Given the description of an element on the screen output the (x, y) to click on. 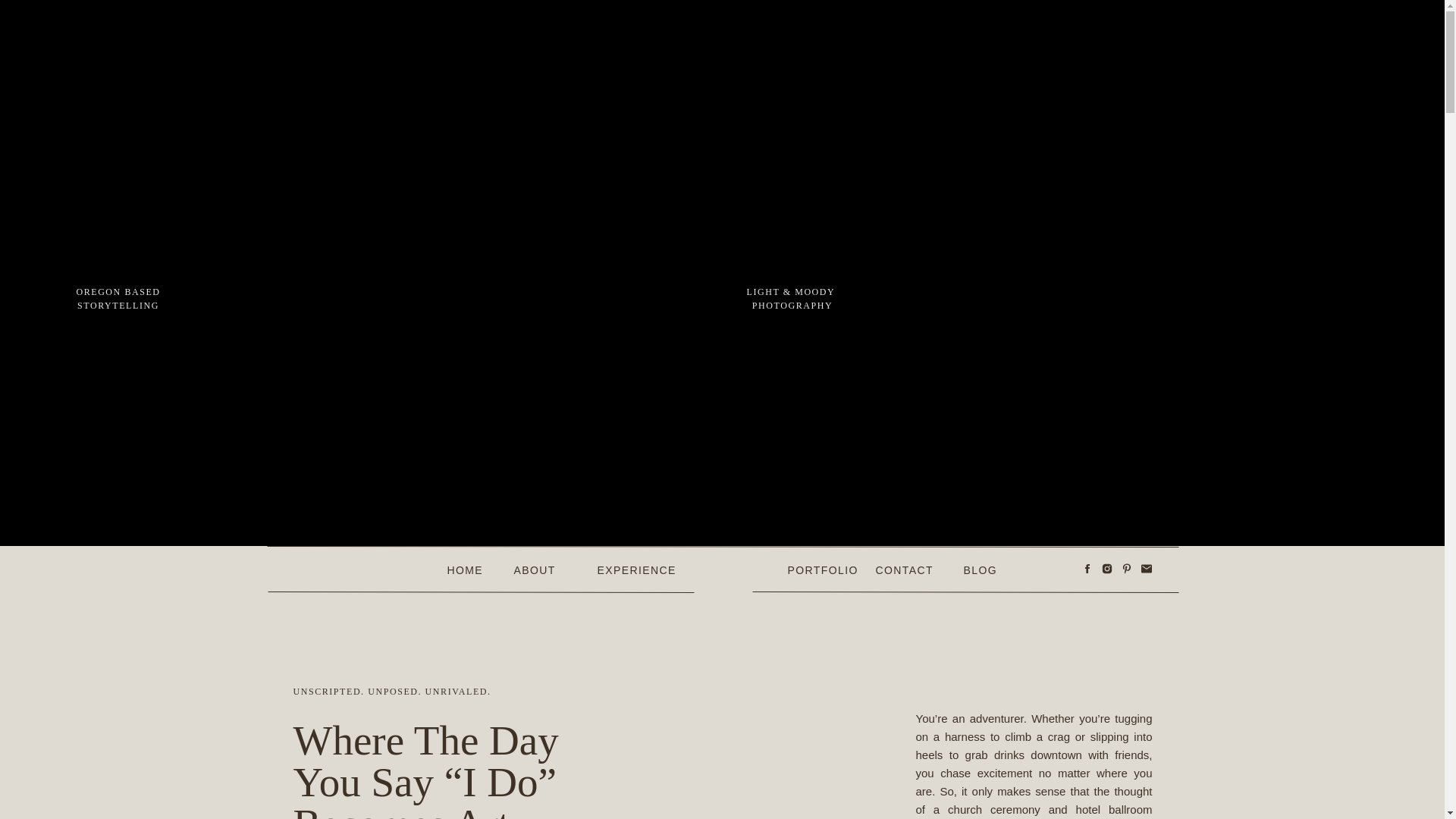
EXPERIENCE (629, 568)
PORTFOLIO (818, 568)
CONTACT (906, 568)
HOME (467, 568)
BLOG (992, 568)
ABOUT (542, 568)
